Given the description of an element on the screen output the (x, y) to click on. 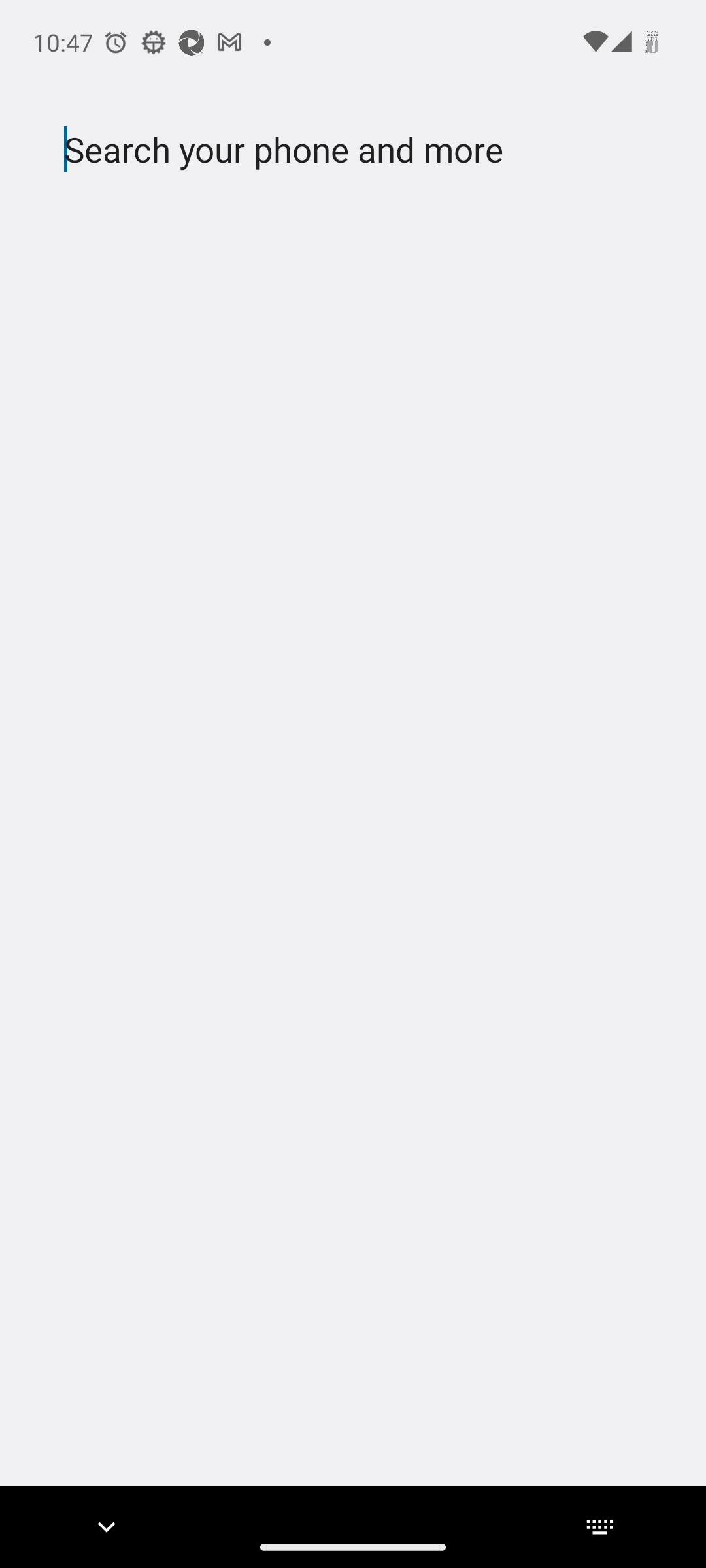
Search your phone and more (321, 149)
